Given the description of an element on the screen output the (x, y) to click on. 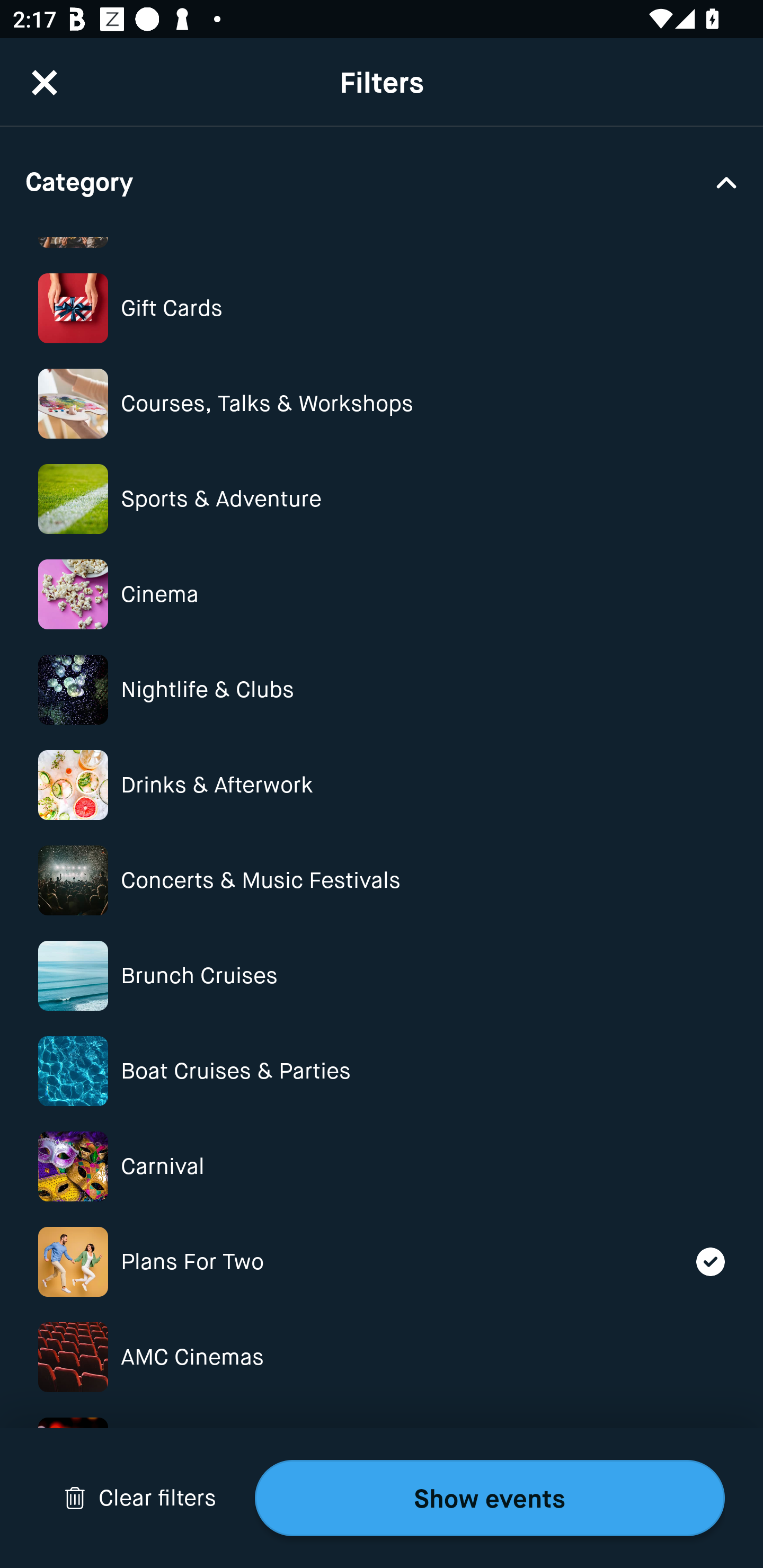
Category Drop Down Arrow (381, 181)
Category Image Gift Cards (381, 307)
Category Image Courses, Talks & Workshops (381, 403)
Category Image Sports & Adventure (381, 498)
Category Image Cinema (381, 593)
Category Image Nightlife & Clubs (381, 689)
Category Image Drinks & Afterwork (381, 784)
Category Image Concerts & Music Festivals (381, 880)
Category Image Brunch Cruises (381, 975)
Category Image Boat Cruises & Parties (381, 1070)
Category Image Carnival (381, 1166)
Category Image Plans For Two Selected Icon (381, 1261)
Category Image AMC Cinemas (381, 1356)
Drop Down Arrow Clear filters (139, 1497)
Show events (489, 1497)
